Given the description of an element on the screen output the (x, y) to click on. 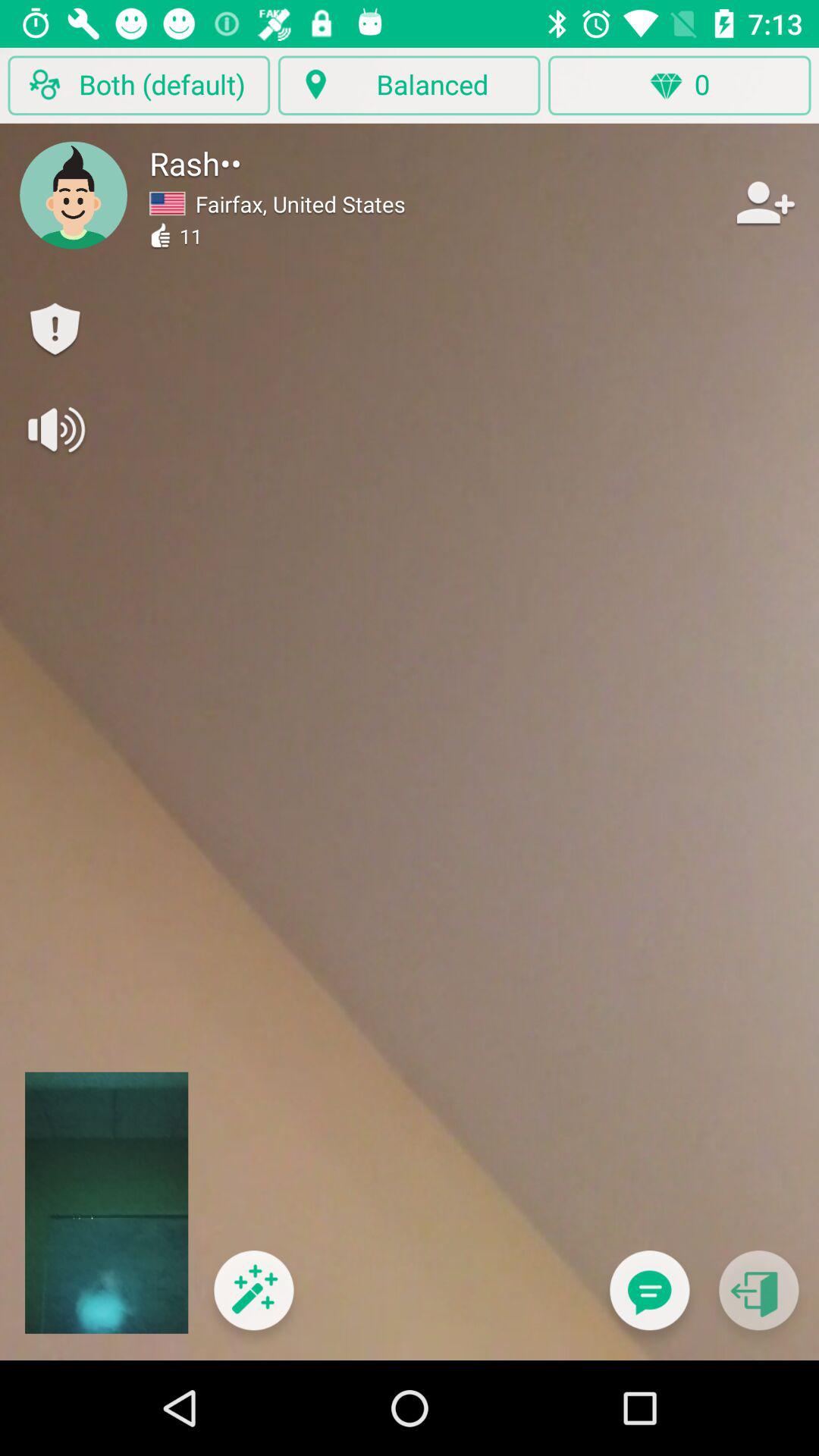
press the item below the both (default) item (73, 195)
